Given the description of an element on the screen output the (x, y) to click on. 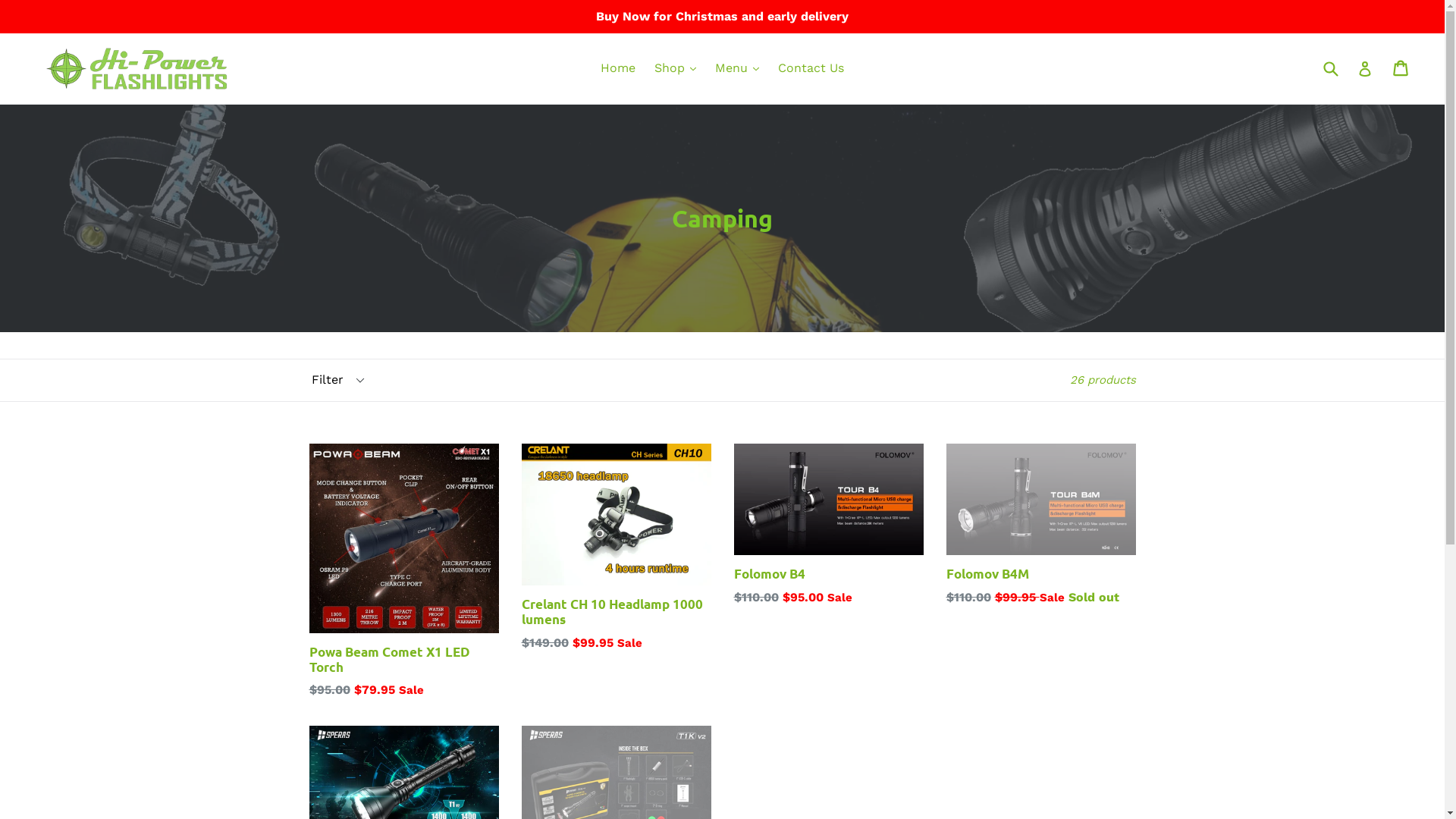
Folomov B4
Regular price
$110.00 $95.00 Sale Element type: text (828, 523)
Home Element type: text (618, 67)
Cart
Cart Element type: text (1401, 67)
Log in Element type: text (1364, 68)
Contact Us Element type: text (810, 67)
Folomov B4M
Regular price
$110.00 $99.95 Sale Sold out Element type: text (1040, 523)
Submit Element type: text (1329, 68)
